Given the description of an element on the screen output the (x, y) to click on. 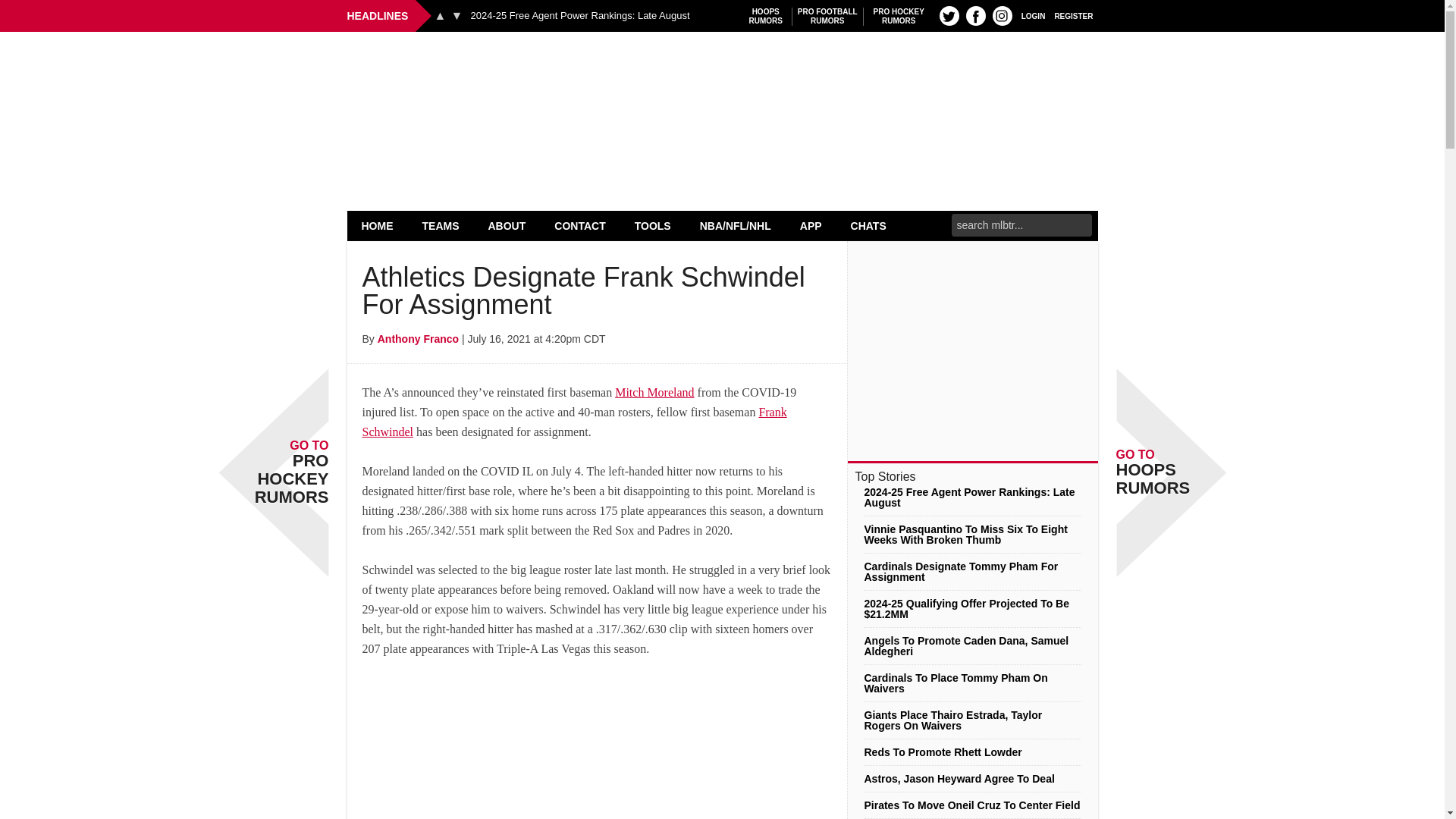
TEAMS (440, 225)
Twitter profile (898, 16)
REGISTER (949, 15)
Search (1073, 15)
2024-25 Free Agent Power Rankings: Late August (456, 15)
HOME (579, 15)
Previous (377, 225)
MLB Trade Rumors (439, 15)
